Given the description of an element on the screen output the (x, y) to click on. 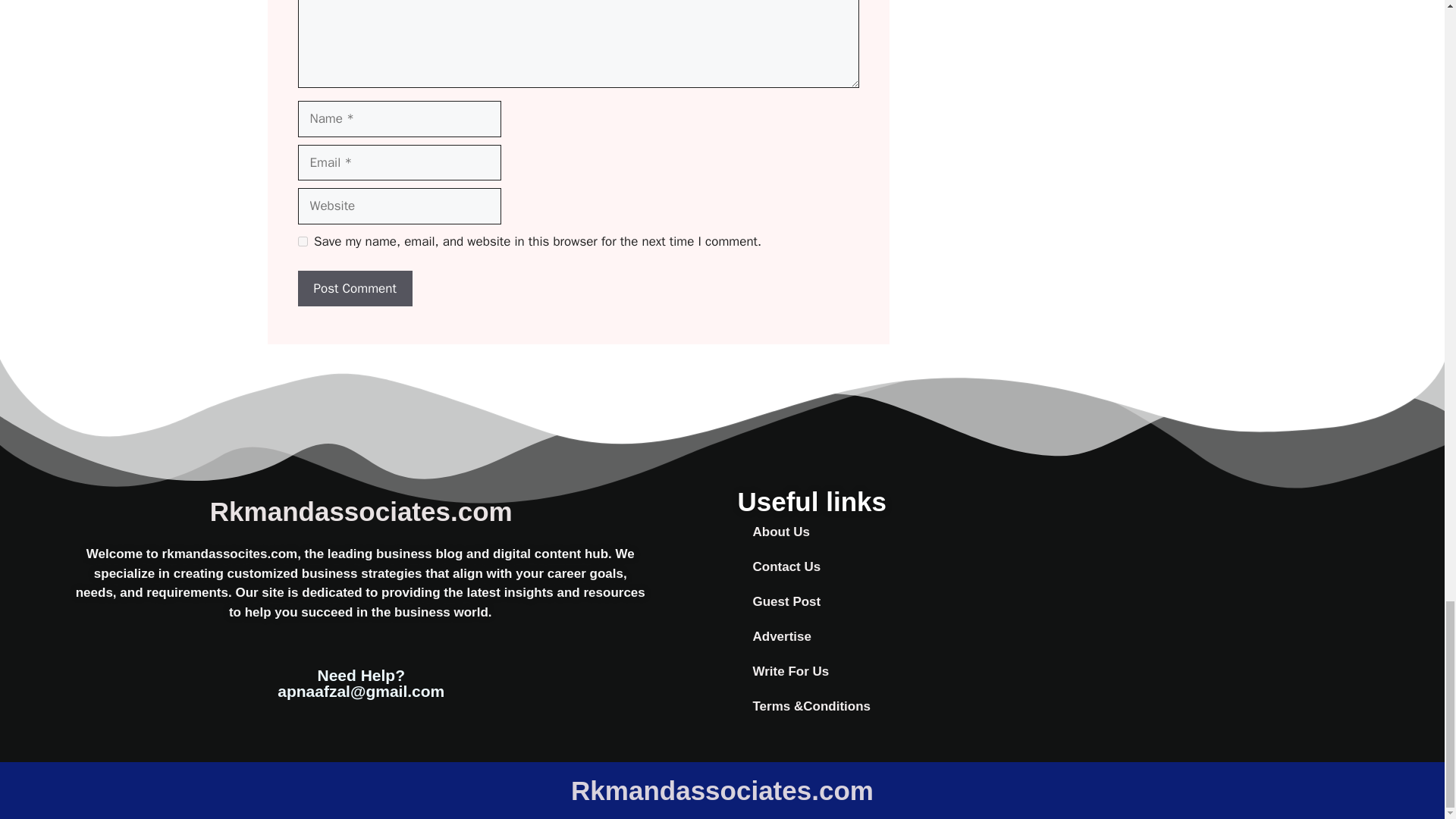
Contact Us (903, 566)
Post Comment (354, 289)
About Us (903, 532)
Post Comment (354, 289)
yes (302, 241)
Advertise (903, 636)
Guest Post (903, 601)
Write For Us (903, 671)
